Given the description of an element on the screen output the (x, y) to click on. 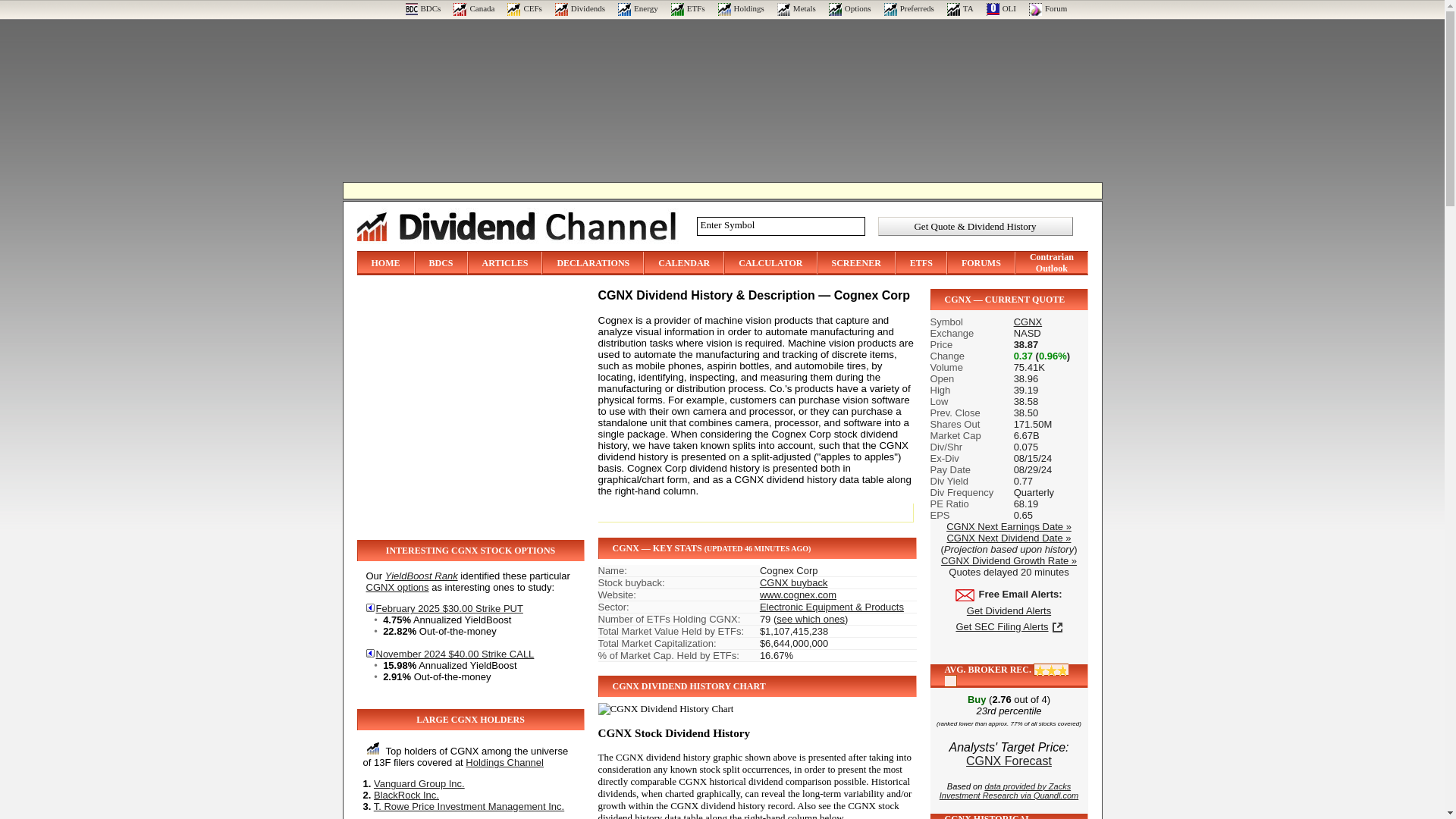
ETFs (687, 8)
ETF Channel (687, 8)
DECLARATIONS (592, 262)
CALENDAR (684, 262)
BDC Investor (422, 8)
Open Contract Detail (443, 608)
BlackRock Inc. (406, 794)
HOME (385, 262)
Preferreds (908, 8)
BDCs (422, 8)
